Given the description of an element on the screen output the (x, y) to click on. 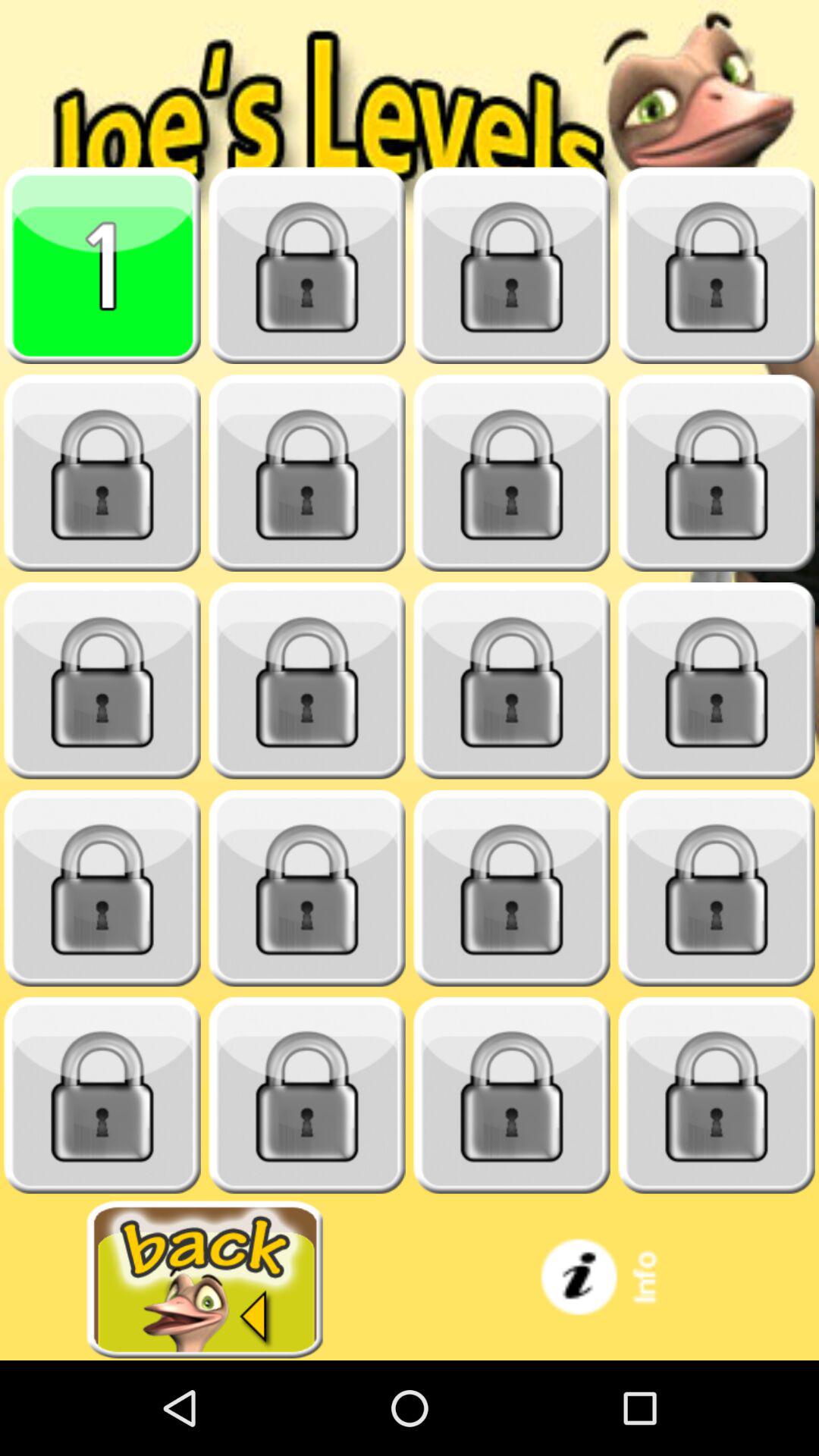
second row down third lock over from the left (511, 473)
